Given the description of an element on the screen output the (x, y) to click on. 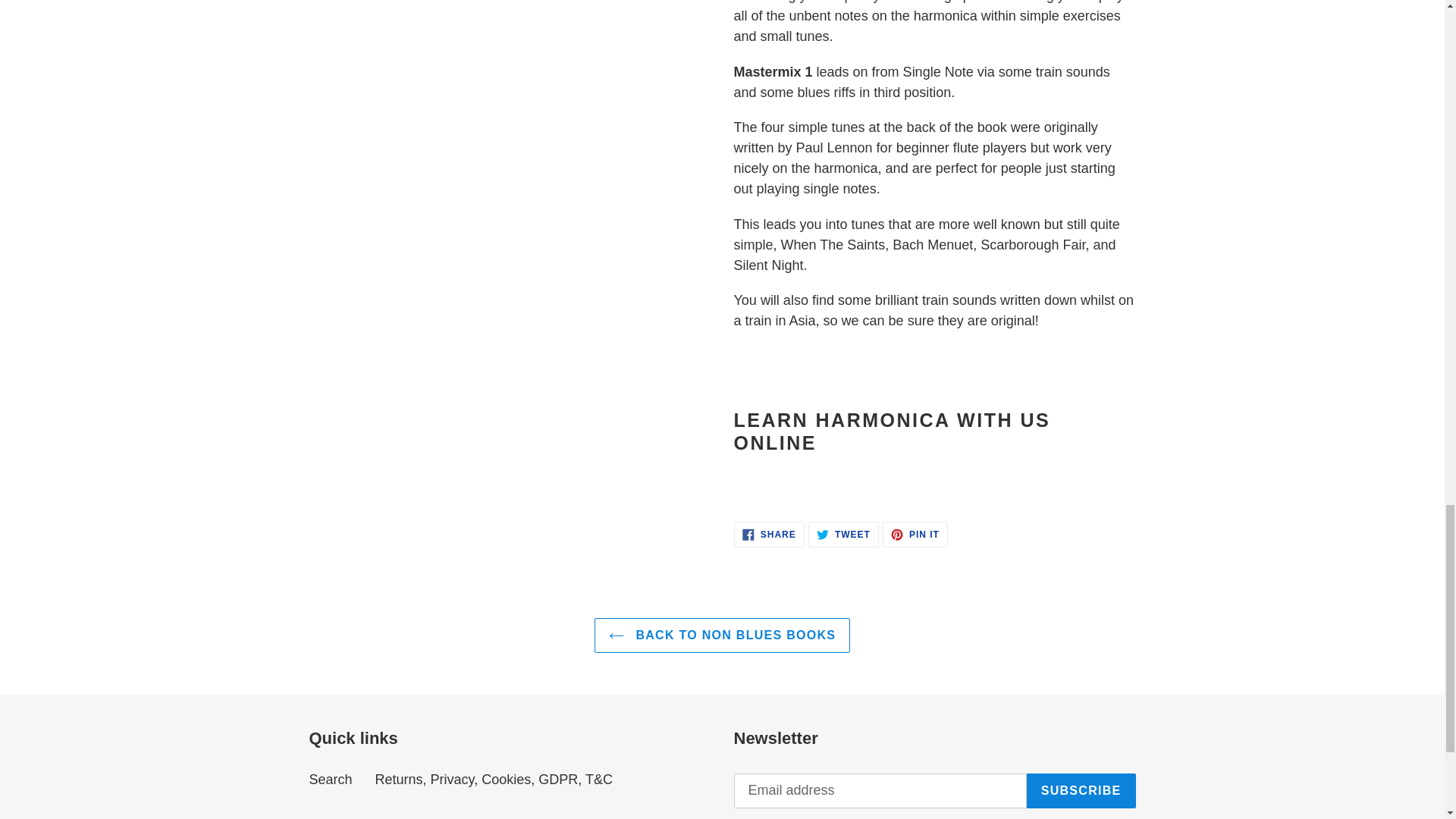
BACK TO NON BLUES BOOKS (914, 534)
SUBSCRIBE (843, 534)
Search (722, 635)
